Given the description of an element on the screen output the (x, y) to click on. 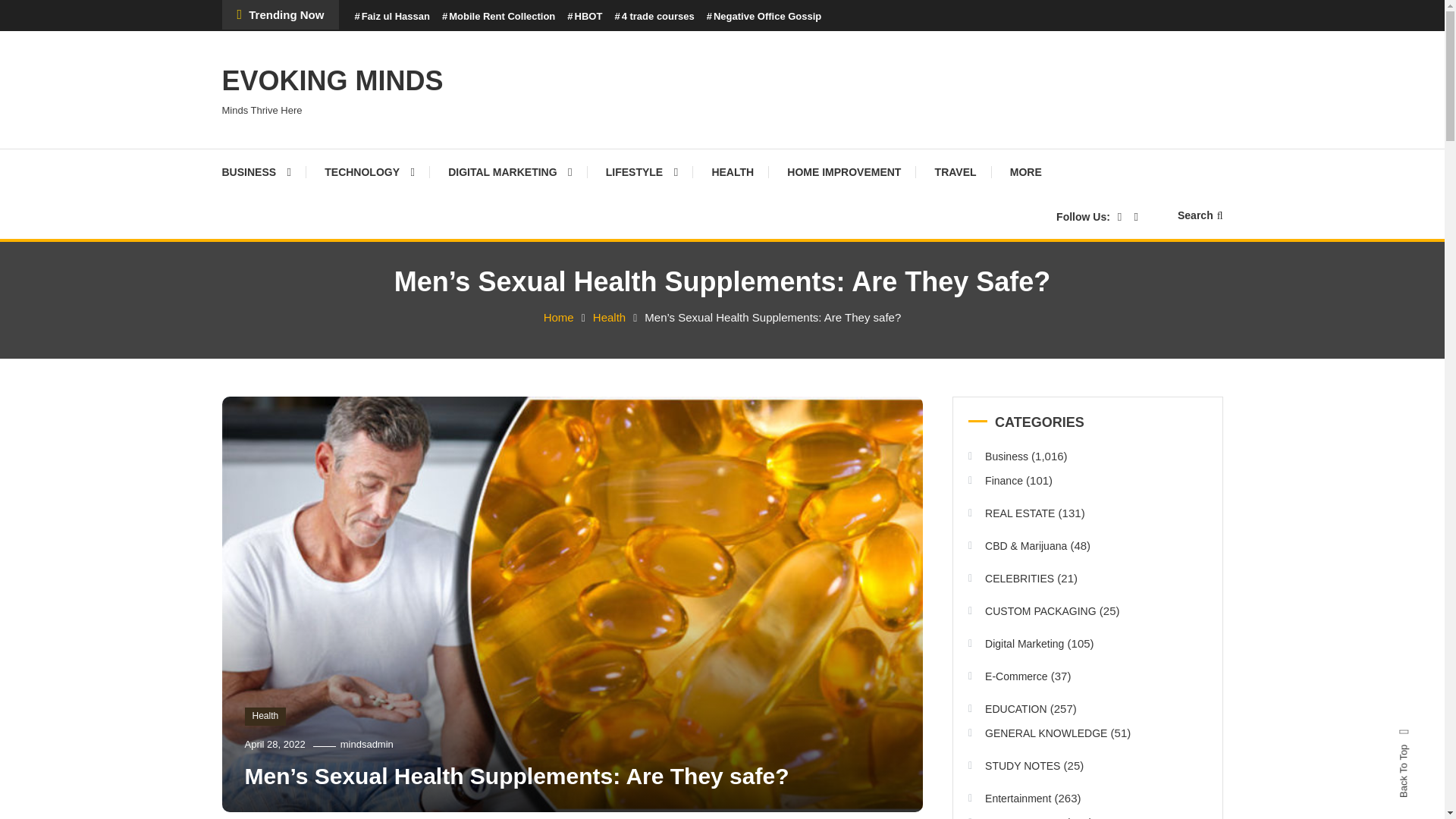
Search (1200, 215)
TECHNOLOGY (368, 171)
HOME IMPROVEMENT (843, 171)
MORE (1025, 171)
Search (768, 432)
Faiz ul Hassan (391, 16)
Health (609, 317)
HBOT (584, 16)
4 trade courses (654, 16)
Home (558, 317)
